Given the description of an element on the screen output the (x, y) to click on. 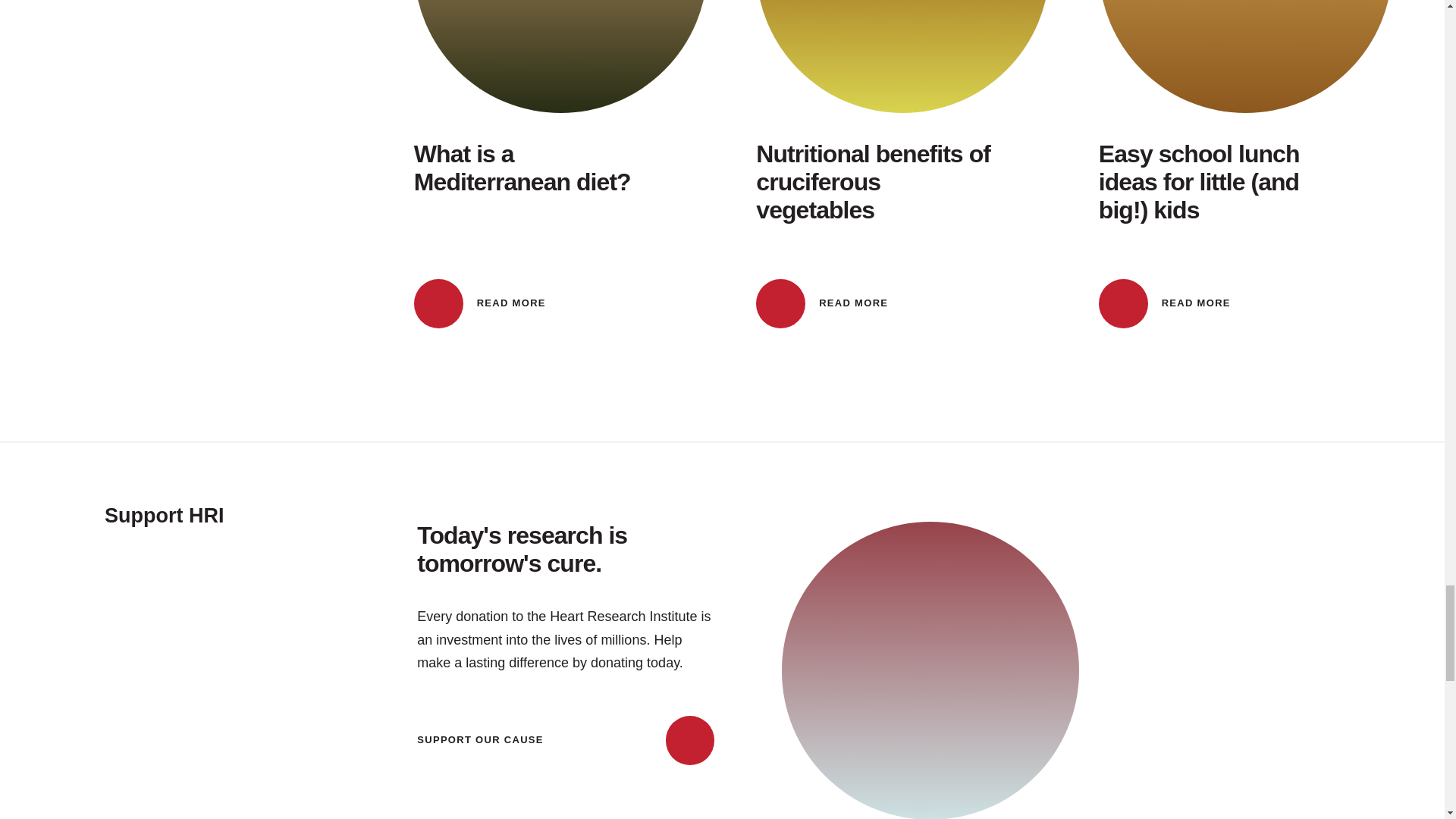
SUPPORT OUR CAUSE (560, 163)
